Given the description of an element on the screen output the (x, y) to click on. 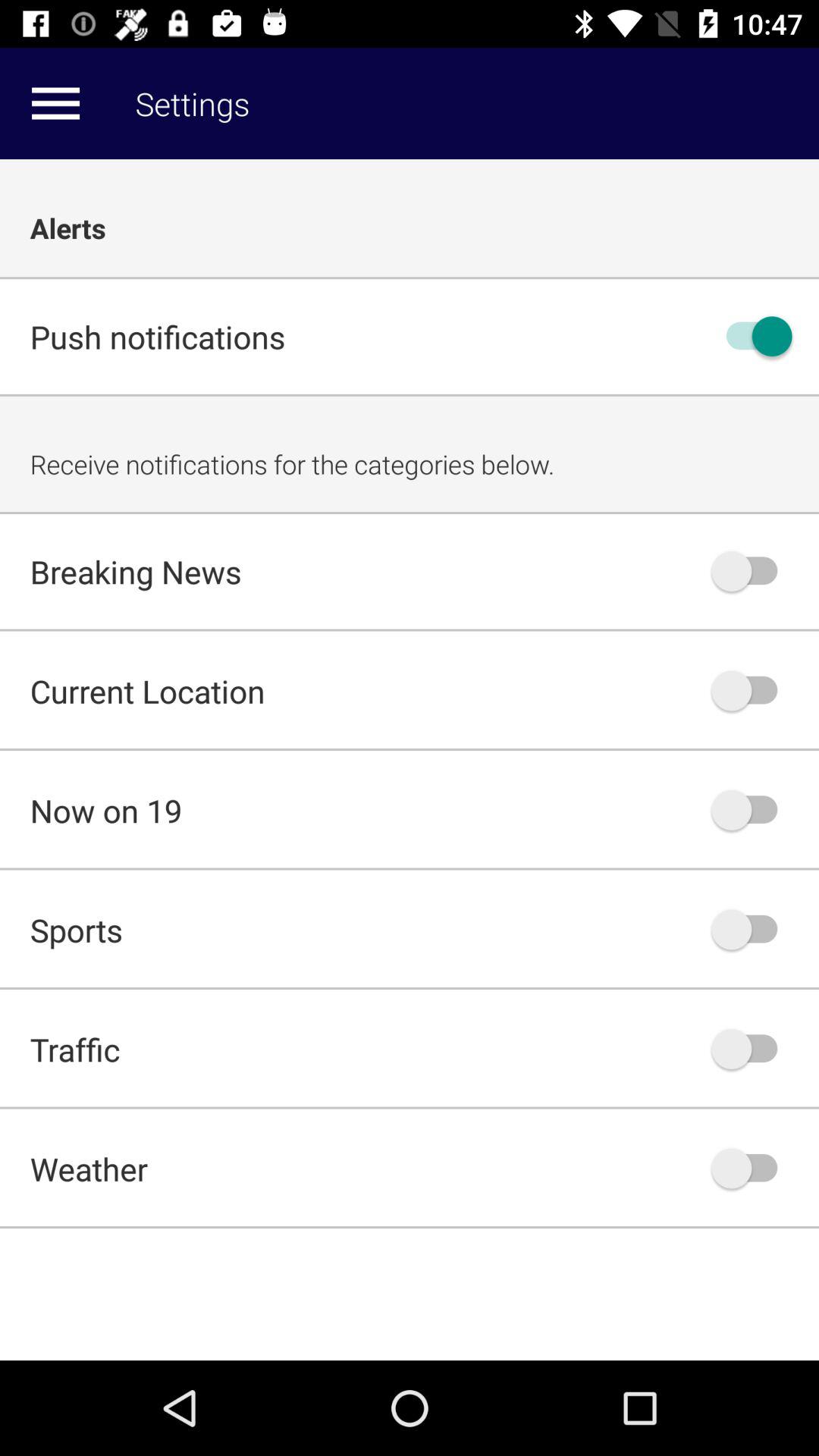
click to turn off button (751, 690)
